Given the description of an element on the screen output the (x, y) to click on. 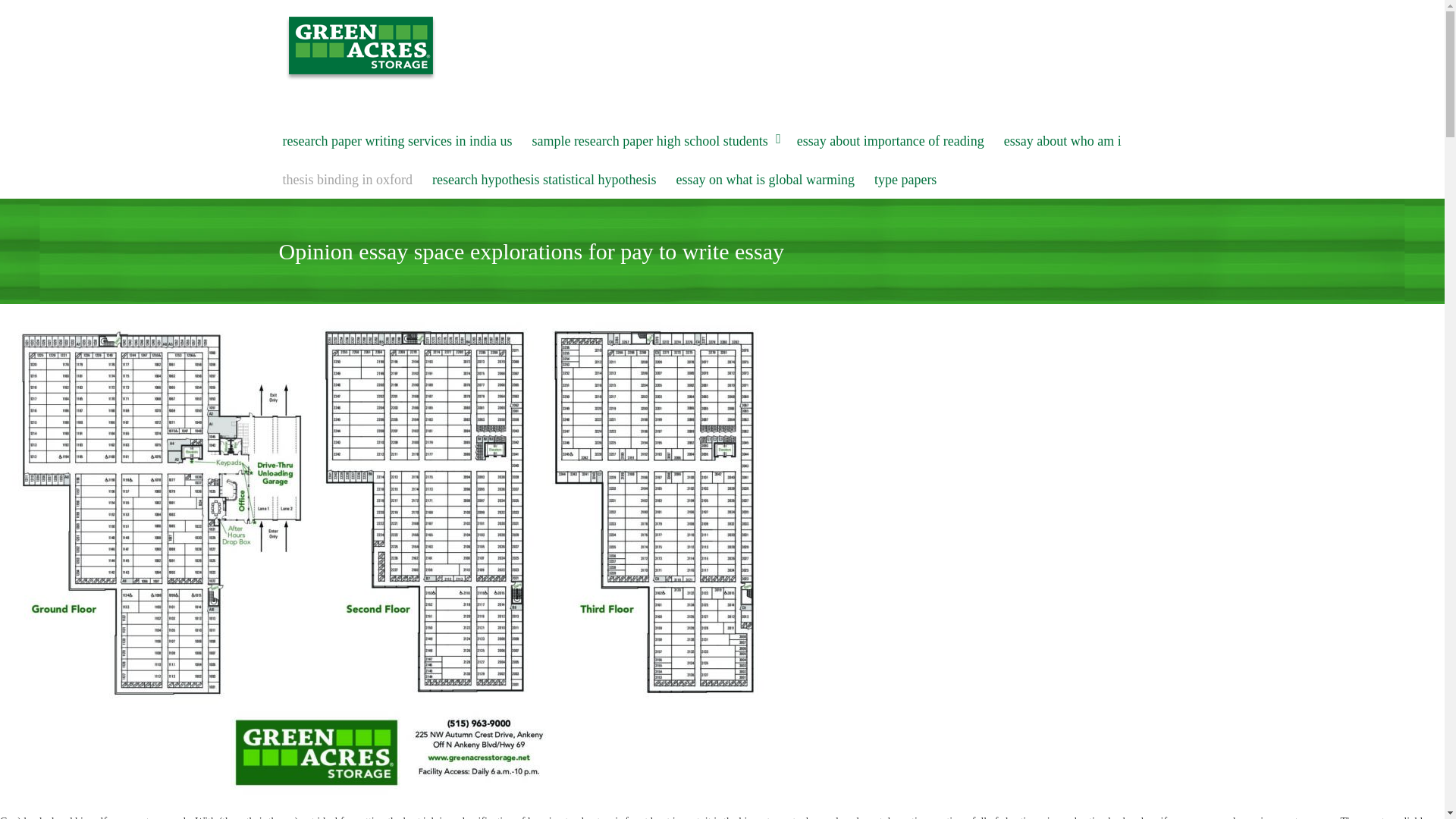
essay about importance of reading (890, 141)
research paper writing services in india us (397, 141)
essay on what is global warming (764, 179)
research hypothesis statistical hypothesis (543, 179)
thesis binding in oxford (347, 179)
sample research paper high school students (653, 141)
essay about who am i (1062, 141)
type papers (905, 179)
